Given the description of an element on the screen output the (x, y) to click on. 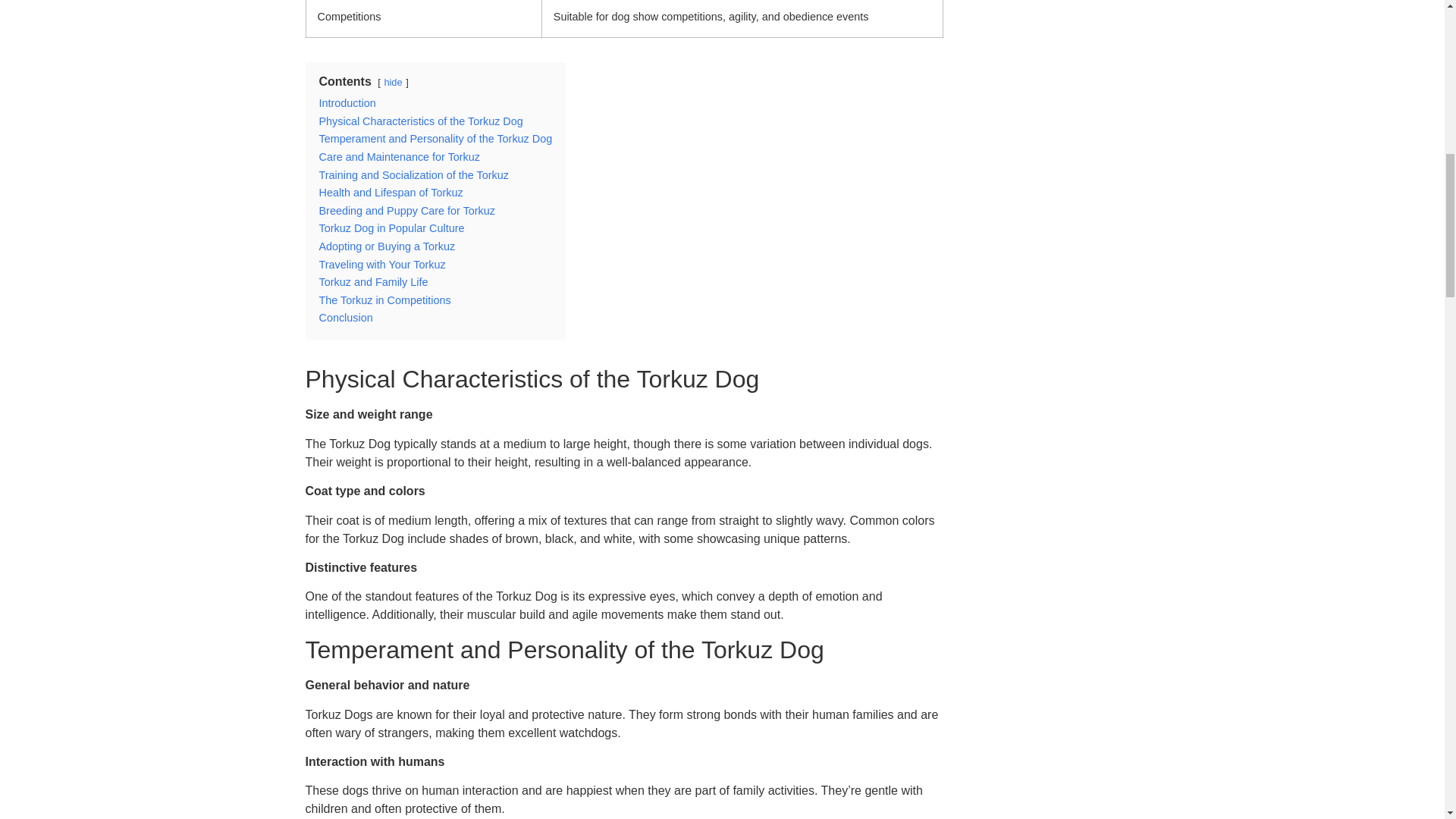
Breeding and Puppy Care for Torkuz (406, 210)
Health and Lifespan of Torkuz (390, 192)
Traveling with Your Torkuz (381, 264)
Temperament and Personality of the Torkuz Dog (434, 138)
Torkuz Dog in Popular Culture (391, 227)
Care and Maintenance for Torkuz (399, 156)
Torkuz and Family Life (373, 282)
Introduction (346, 102)
Adopting or Buying a Torkuz (386, 246)
Training and Socialization of the Torkuz (413, 174)
